Given the description of an element on the screen output the (x, y) to click on. 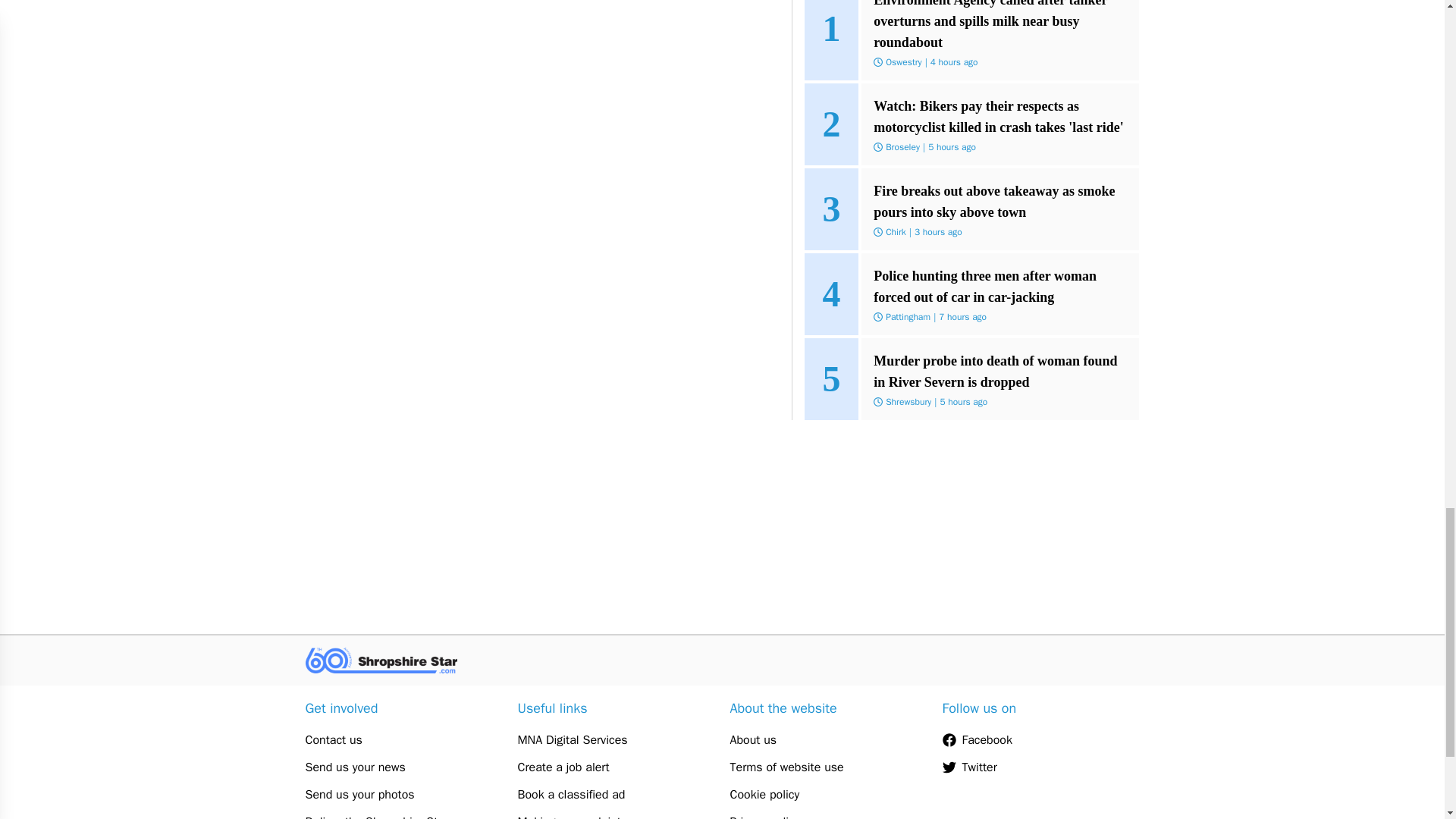
Pattingham (907, 316)
Shrewsbury (908, 401)
Broseley (902, 146)
Chirk (895, 232)
Oswestry (903, 61)
